Given the description of an element on the screen output the (x, y) to click on. 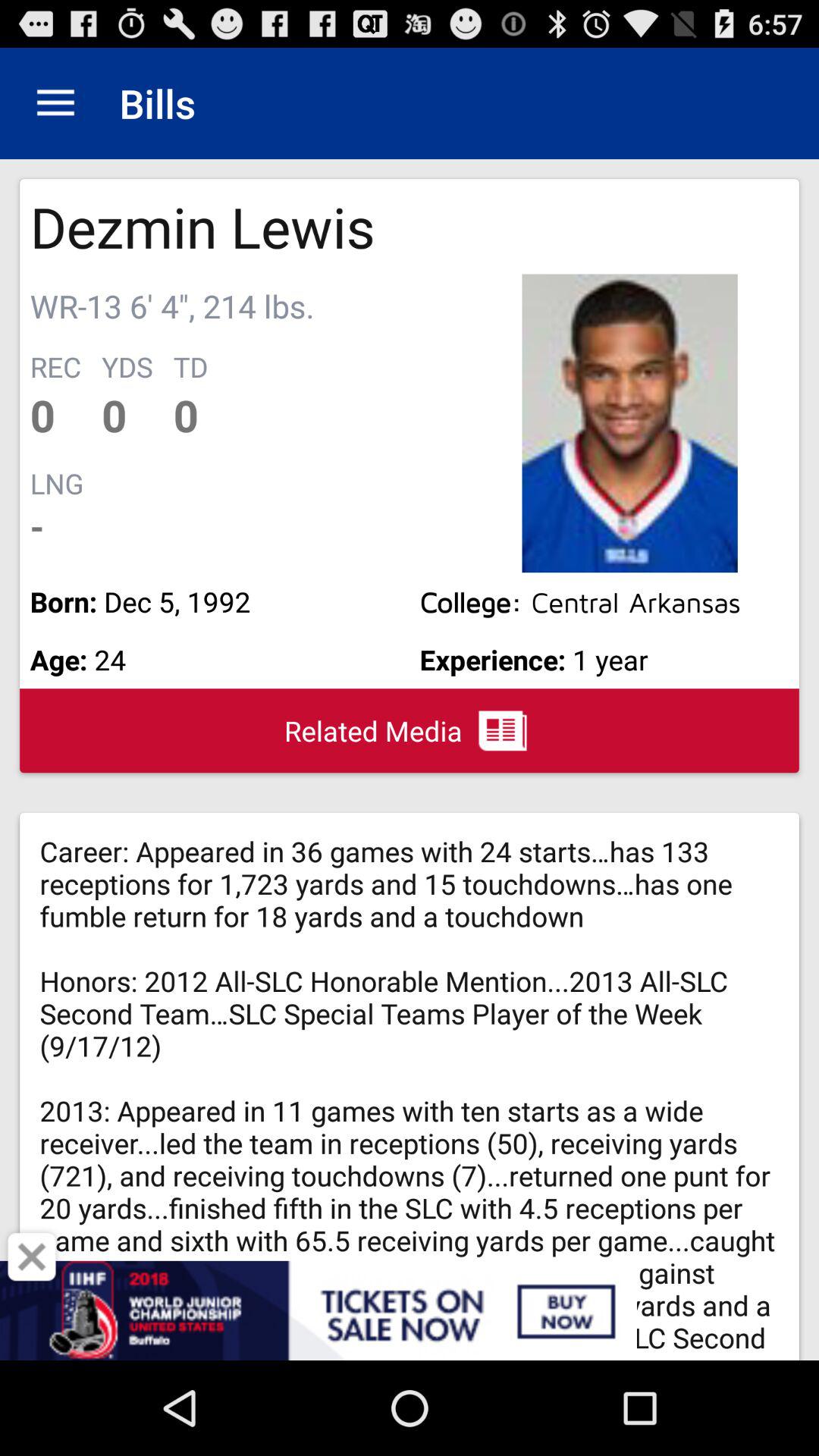
open related media item (409, 730)
